Given the description of an element on the screen output the (x, y) to click on. 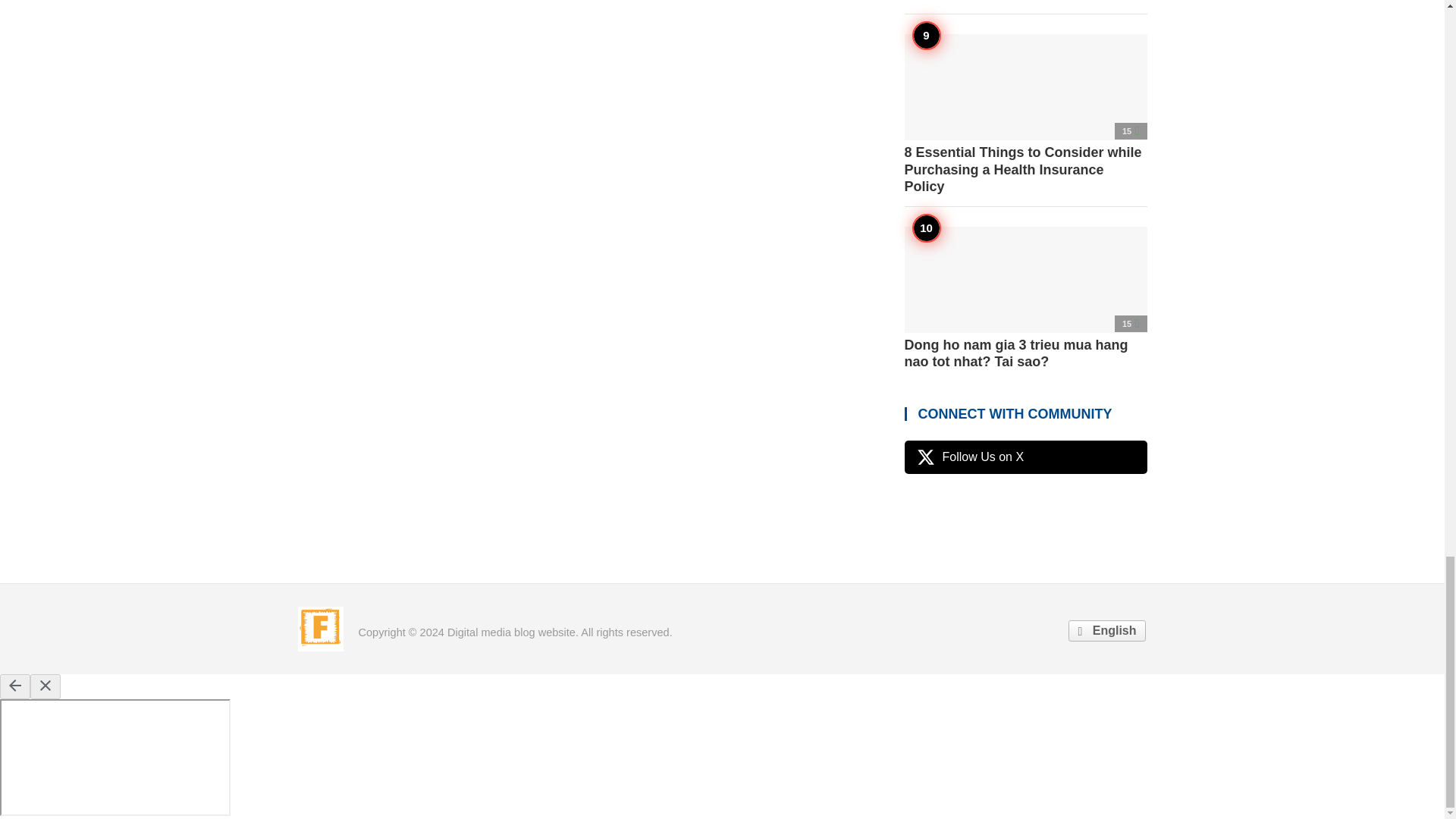
Advertisement (721, 540)
Dong ho nam gia 3 trieu mua hang nao tot nhat? Tai sao? (1025, 298)
